Given the description of an element on the screen output the (x, y) to click on. 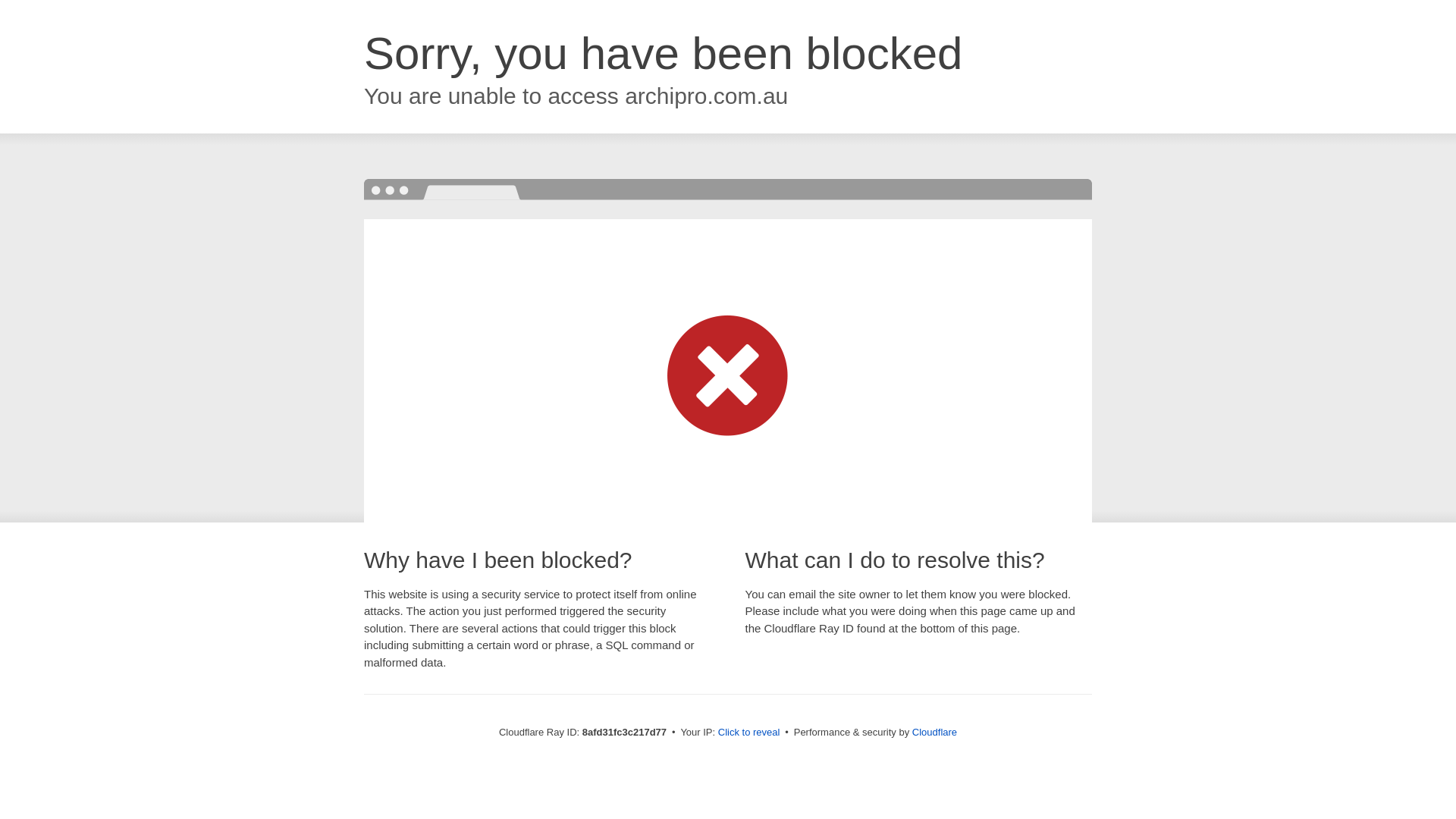
Click to reveal (748, 732)
Cloudflare (934, 731)
